Given the description of an element on the screen output the (x, y) to click on. 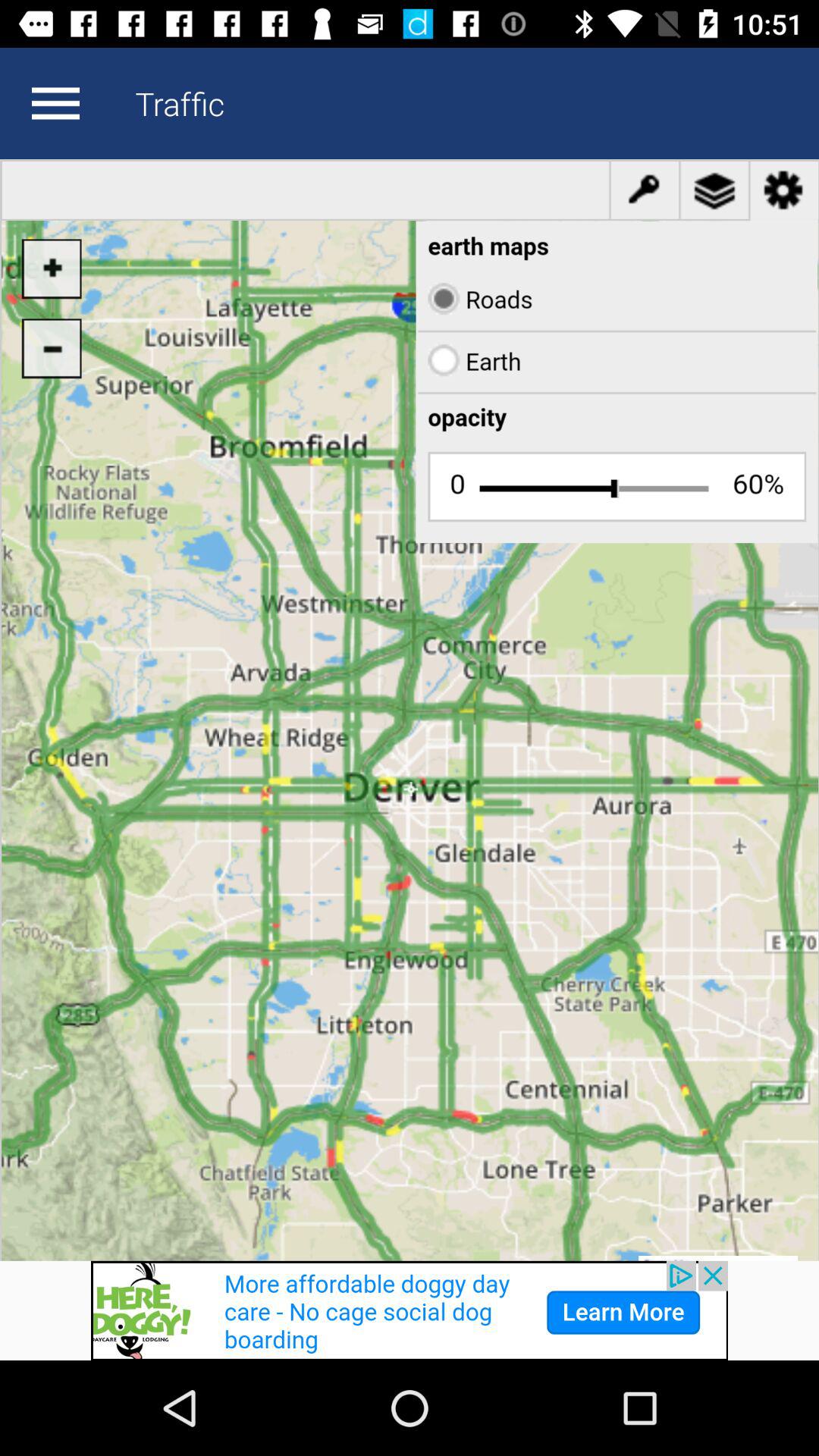
go to advertisement (409, 1310)
